Given the description of an element on the screen output the (x, y) to click on. 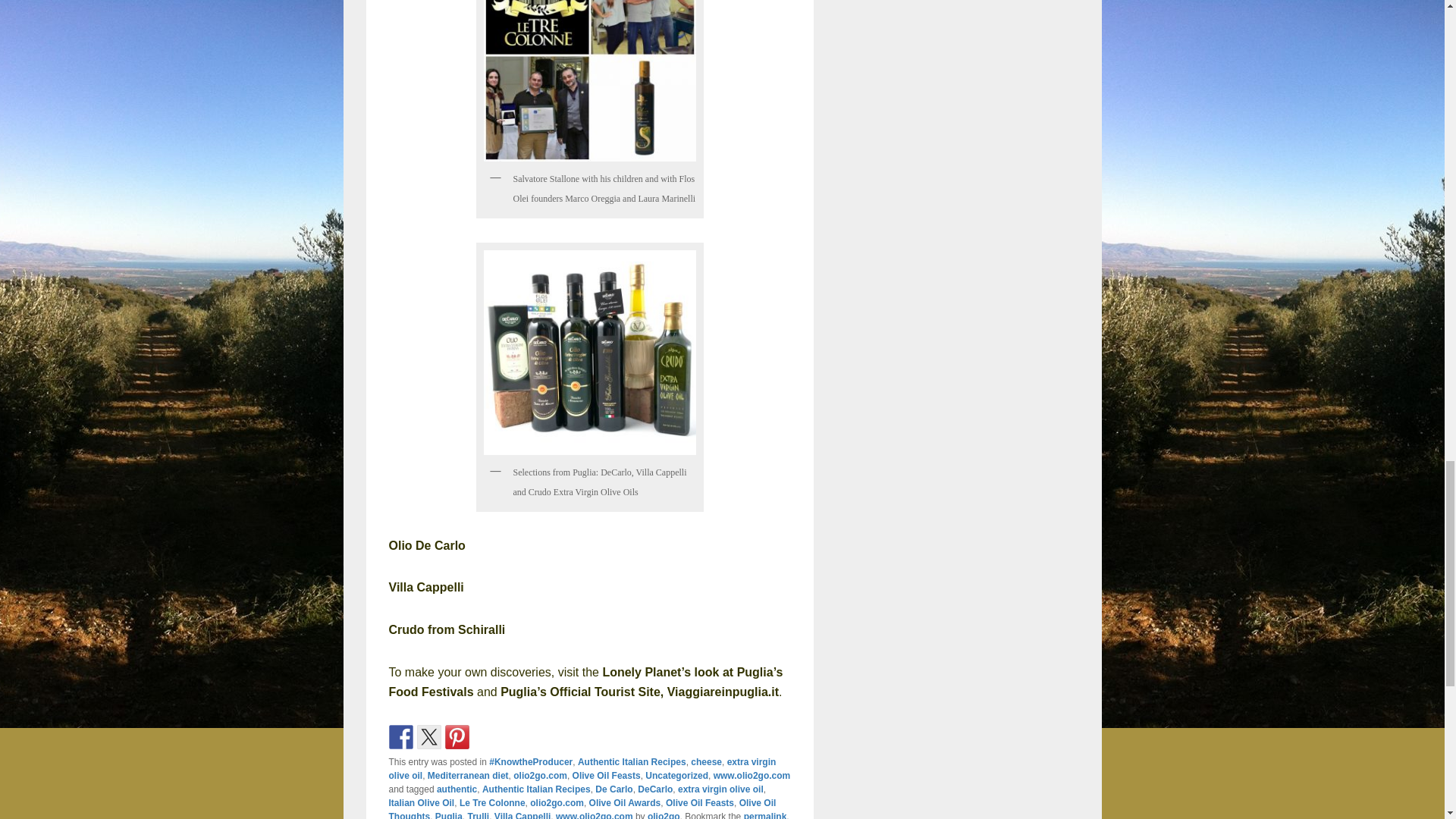
De Carlo (613, 788)
Share on Twitter (428, 736)
Crudo from Schiralli (446, 629)
Authentic Italian Recipes (631, 761)
Olive Oil Feasts (606, 775)
Uncategorized (676, 775)
Permalink to Discovering Puglia: Cuisine and Olive Oil (765, 815)
www.olio2go.com (751, 775)
Olio De Carlo (426, 545)
authentic (456, 788)
Viaggiareinpuglia.it (722, 691)
cheese (706, 761)
Mediterranean diet (468, 775)
Share on Facebook (400, 736)
extra virgin olive oil (582, 768)
